Given the description of an element on the screen output the (x, y) to click on. 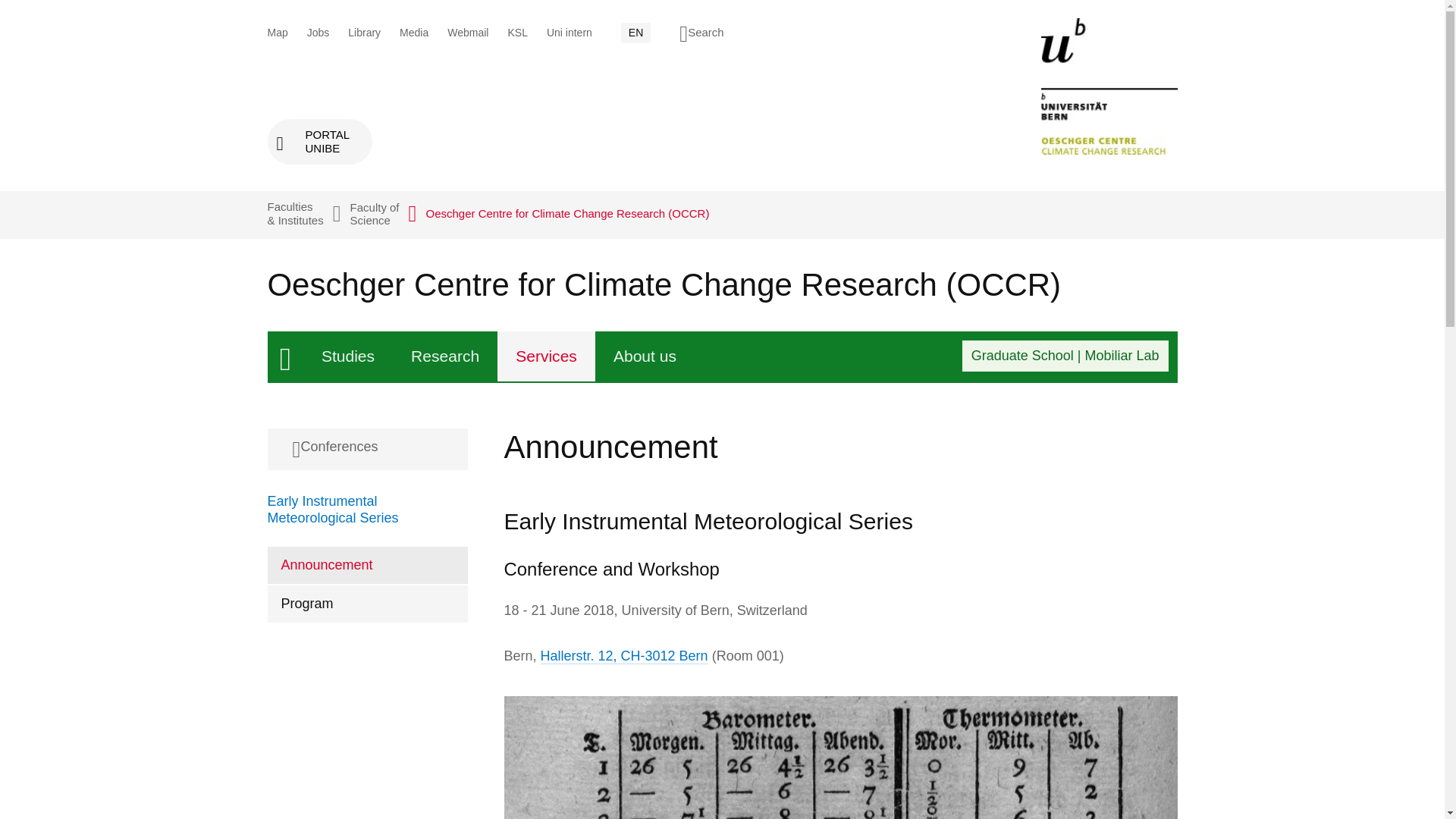
Conferences (366, 449)
Studies (374, 212)
Early Instrumental Meteorological Series (347, 356)
About us (319, 141)
Startseite (331, 509)
Hallerstr. 12, CH-3012 Bern (644, 356)
Announcement (623, 656)
Program (546, 356)
Research (366, 565)
